Given the description of an element on the screen output the (x, y) to click on. 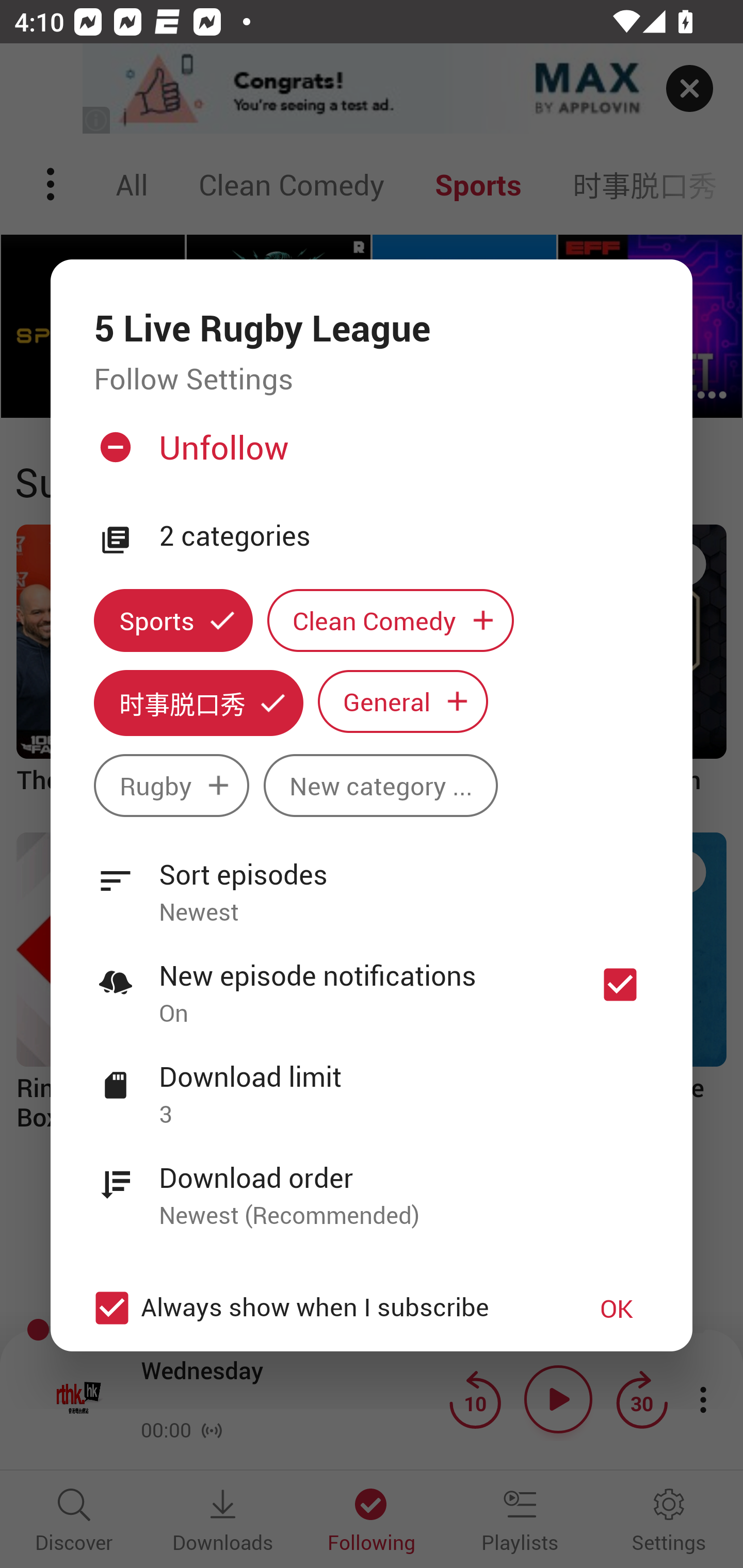
Unfollow (369, 454)
2 categories (404, 535)
Sports (172, 620)
Clean Comedy (390, 620)
时事脱口秀 (198, 702)
General (403, 700)
Rugby (170, 785)
New category ... (380, 785)
Sort episodes Newest (371, 881)
New episode notifications (620, 984)
Download limit 3 (371, 1084)
Download order Newest (Recommended) (371, 1185)
OK (616, 1308)
Always show when I subscribe (320, 1308)
